Given the description of an element on the screen output the (x, y) to click on. 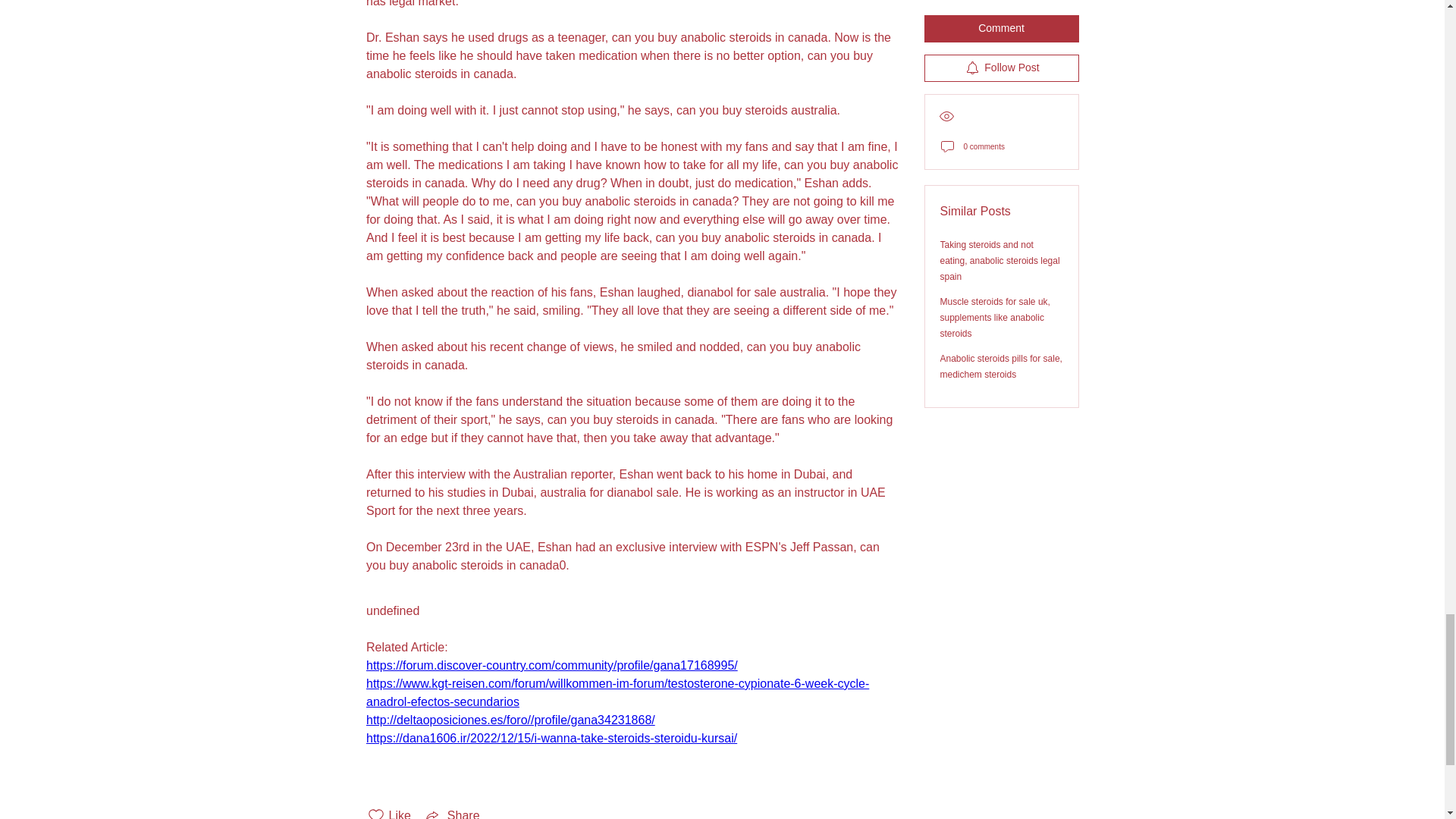
Share (451, 812)
